Given the description of an element on the screen output the (x, y) to click on. 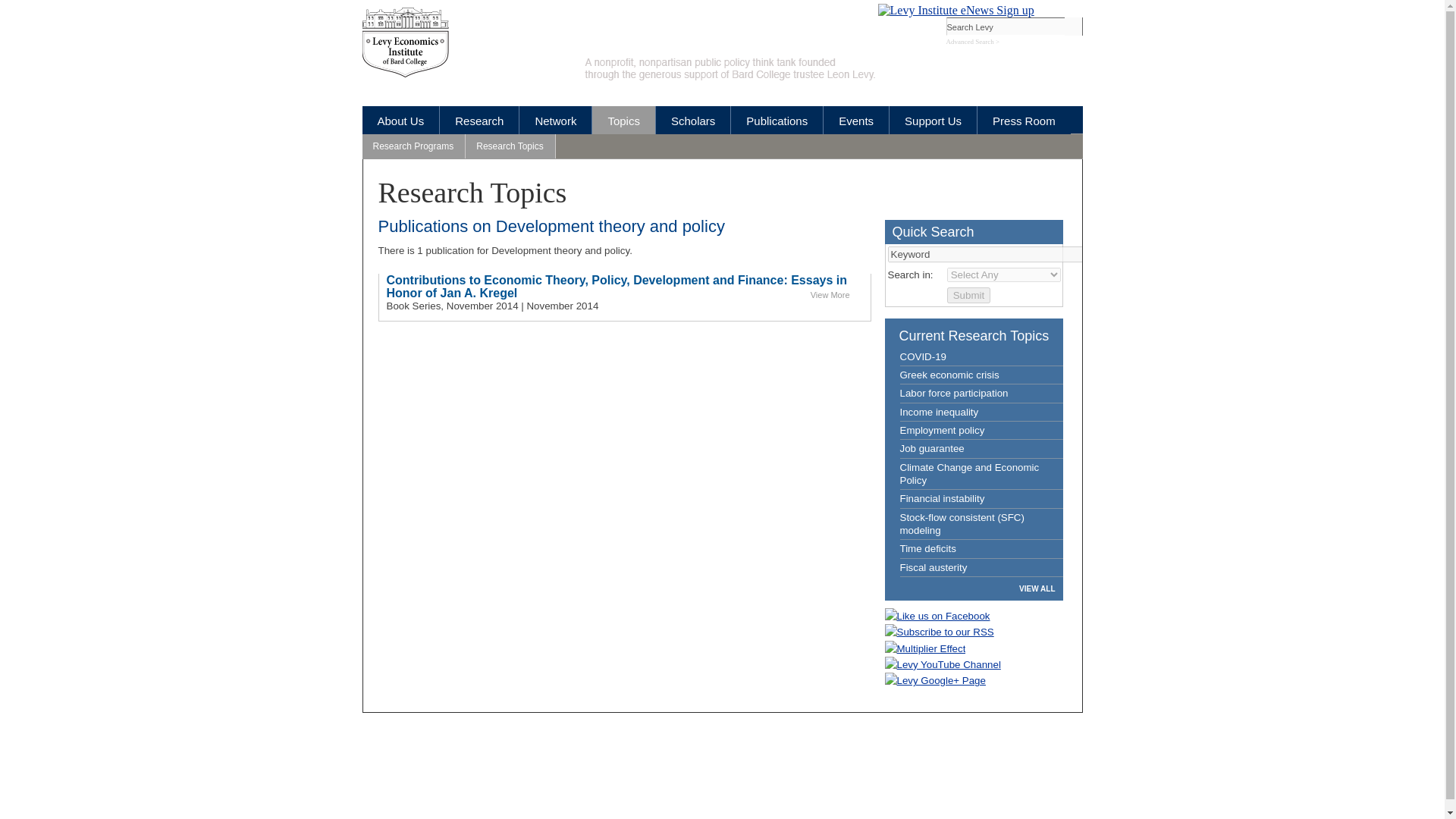
Network (555, 120)
Keyword (983, 254)
Topics (623, 120)
Go (1073, 26)
About Us (400, 120)
Research (478, 120)
Go (1073, 26)
Search Levy (1005, 26)
Submit (968, 295)
